Given the description of an element on the screen output the (x, y) to click on. 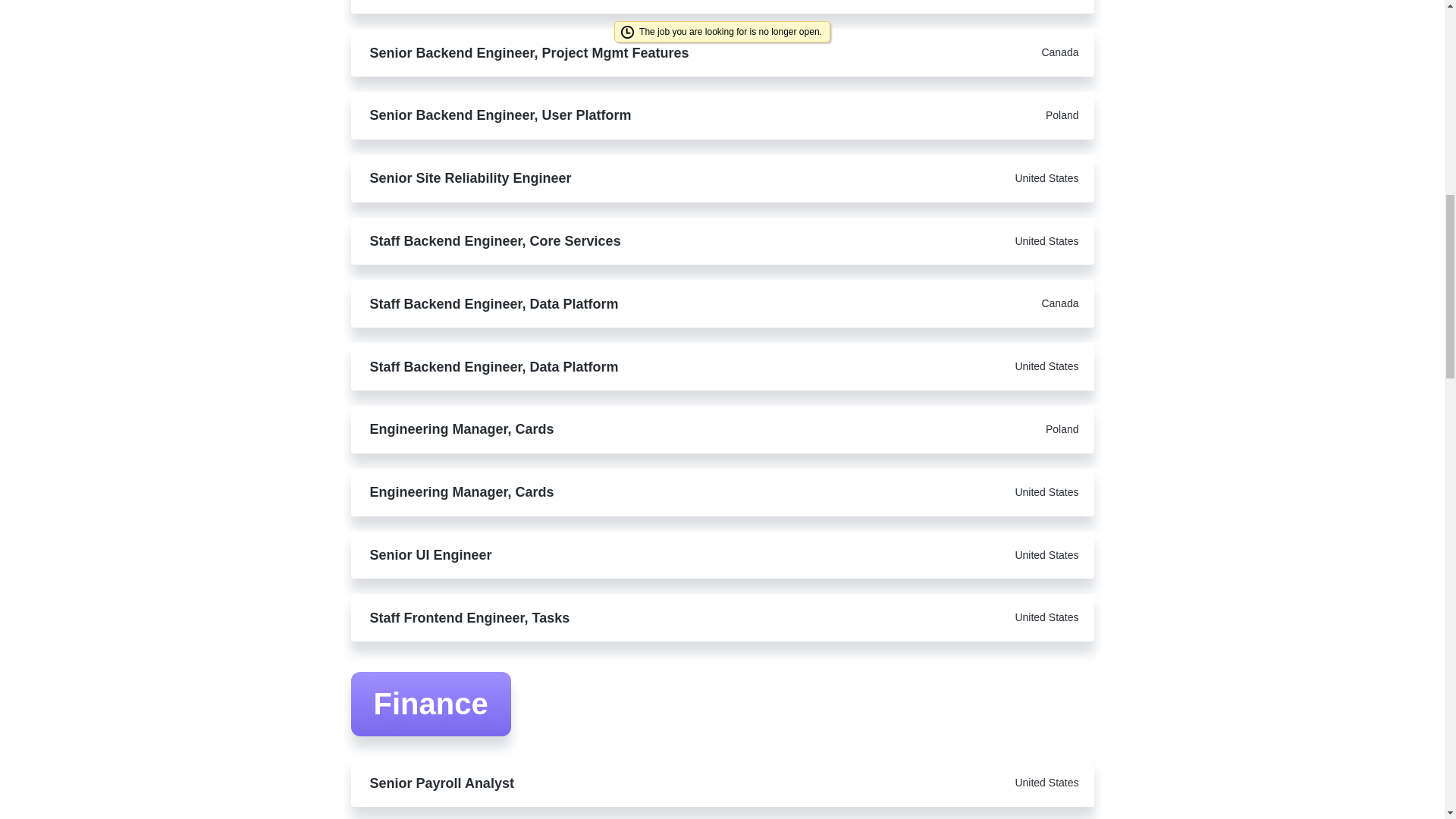
Senior UI Engineer (617, 554)
Engineering Manager, Cards (617, 491)
Staff Backend Engineer, Data Platform (617, 366)
Senior Site Reliability Engineer (617, 178)
Senior Backend Engineer, User Platform (617, 115)
Senior Payroll Analyst (617, 783)
Staff Backend Engineer, Data Platform (617, 303)
Senior Backend Engineer, Project Mgmt Features (617, 52)
Staff Frontend Engineer, Tasks (617, 617)
